Given the description of an element on the screen output the (x, y) to click on. 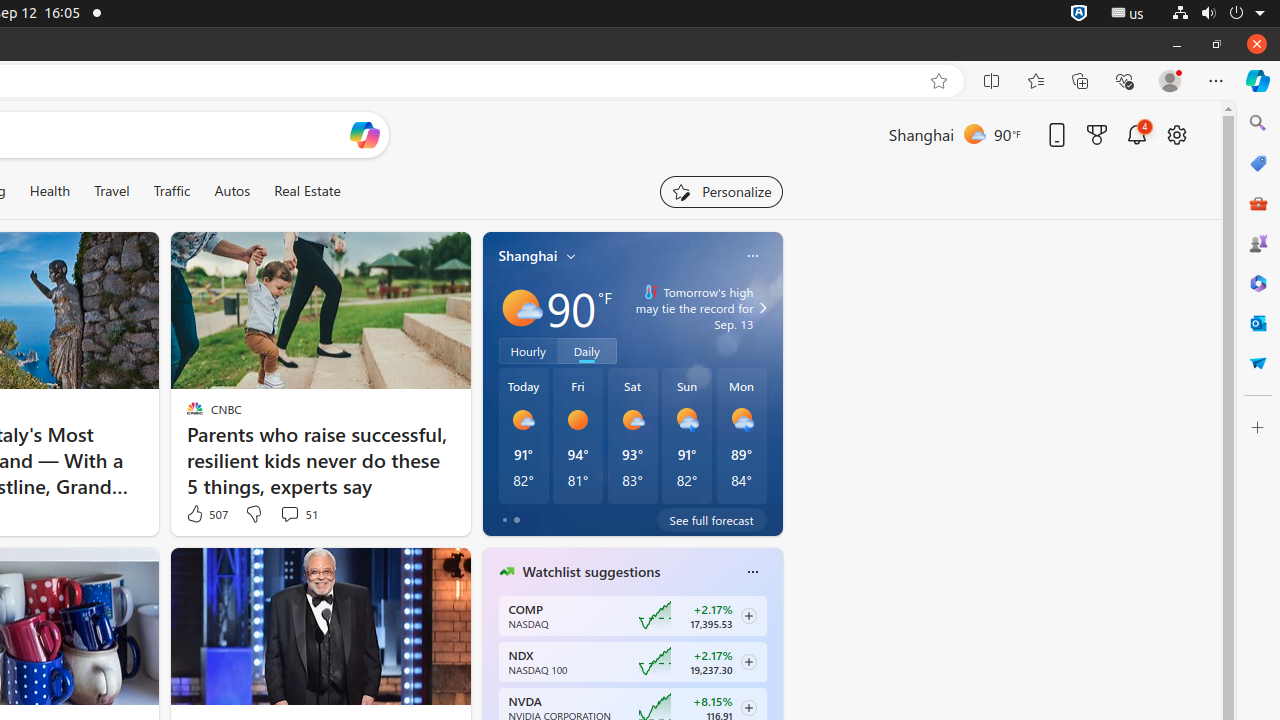
Microsoft rewards Element type: push-button (1097, 134)
Weather forecast Sun High temperature 91° Low temperature 82° Element type: link (687, 435)
Hourly Element type: list-item (528, 351)
Notifications Element type: push-button (1137, 134)
System Element type: menu (1218, 13)
